Given the description of an element on the screen output the (x, y) to click on. 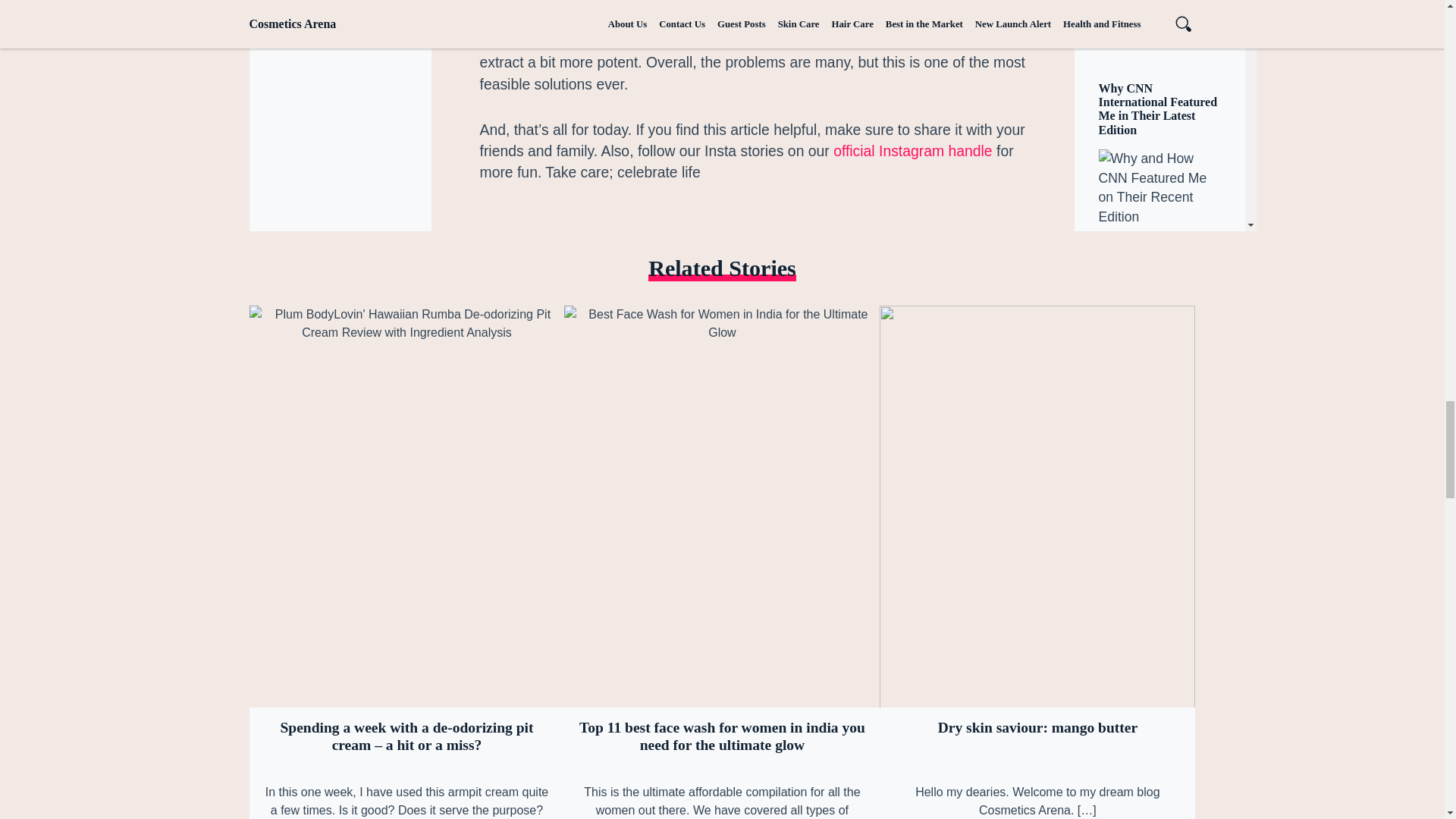
official Instagram handle (912, 150)
DRY SKIN SAVIOUR: MANGO BUTTER (1036, 745)
